Given the description of an element on the screen output the (x, y) to click on. 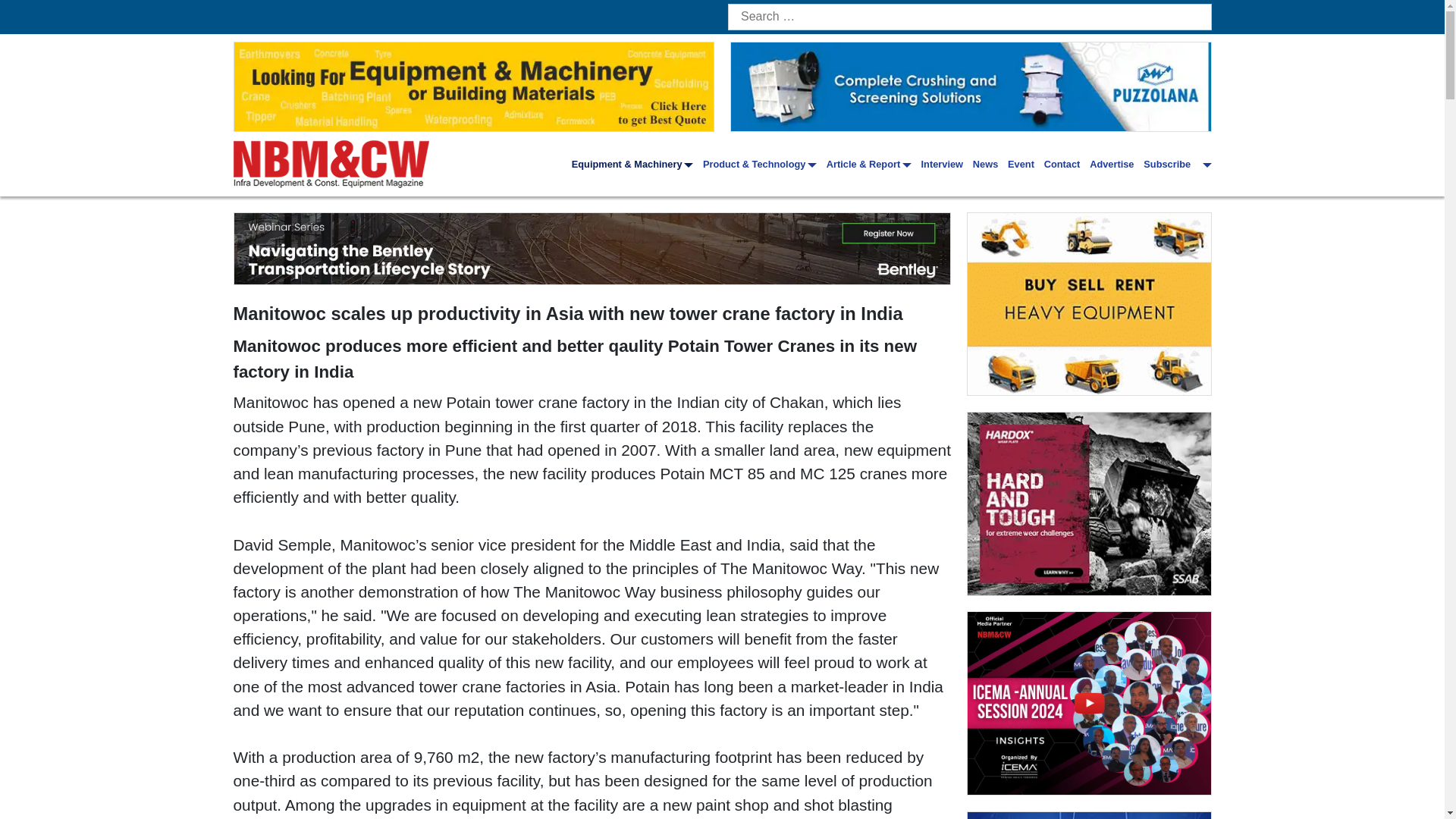
Kone - DX Class Elevator (1089, 815)
Navigating the Bentley Transportation Lifecycle Story (591, 248)
Infrabazaar - One STOP SHOP for all your INFRA needs (1089, 303)
Puzzolana - Complete Crushing and Screening Solutions (970, 86)
